Given the description of an element on the screen output the (x, y) to click on. 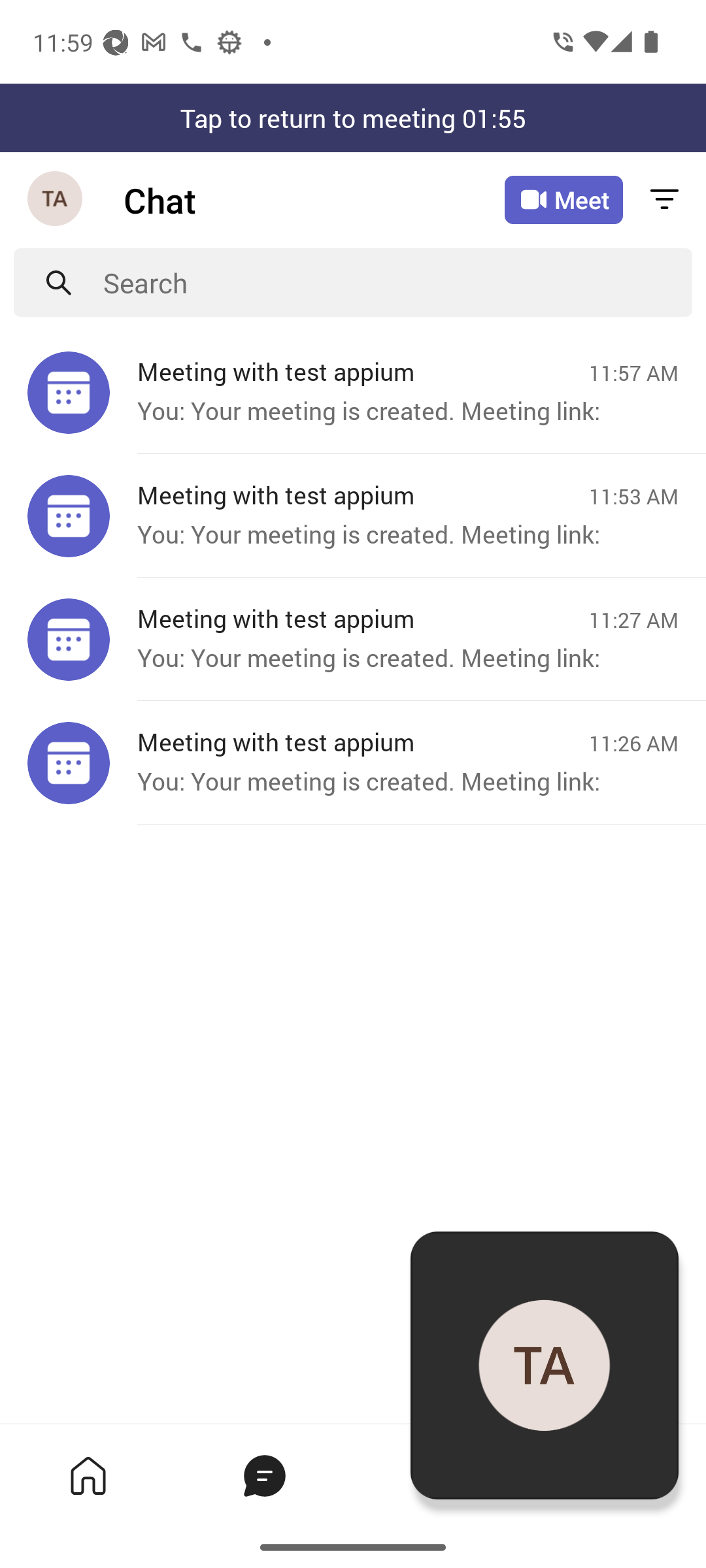
Tap to return to meeting 01:55 (353, 117)
Filter chat messages (664, 199)
Navigation (56, 199)
Meet Meet now or join with an ID (563, 199)
Search (397, 281)
Home tab,1 of 4, not selected (88, 1475)
Chat tab, 2 of 4 (264, 1475)
